Given the description of an element on the screen output the (x, y) to click on. 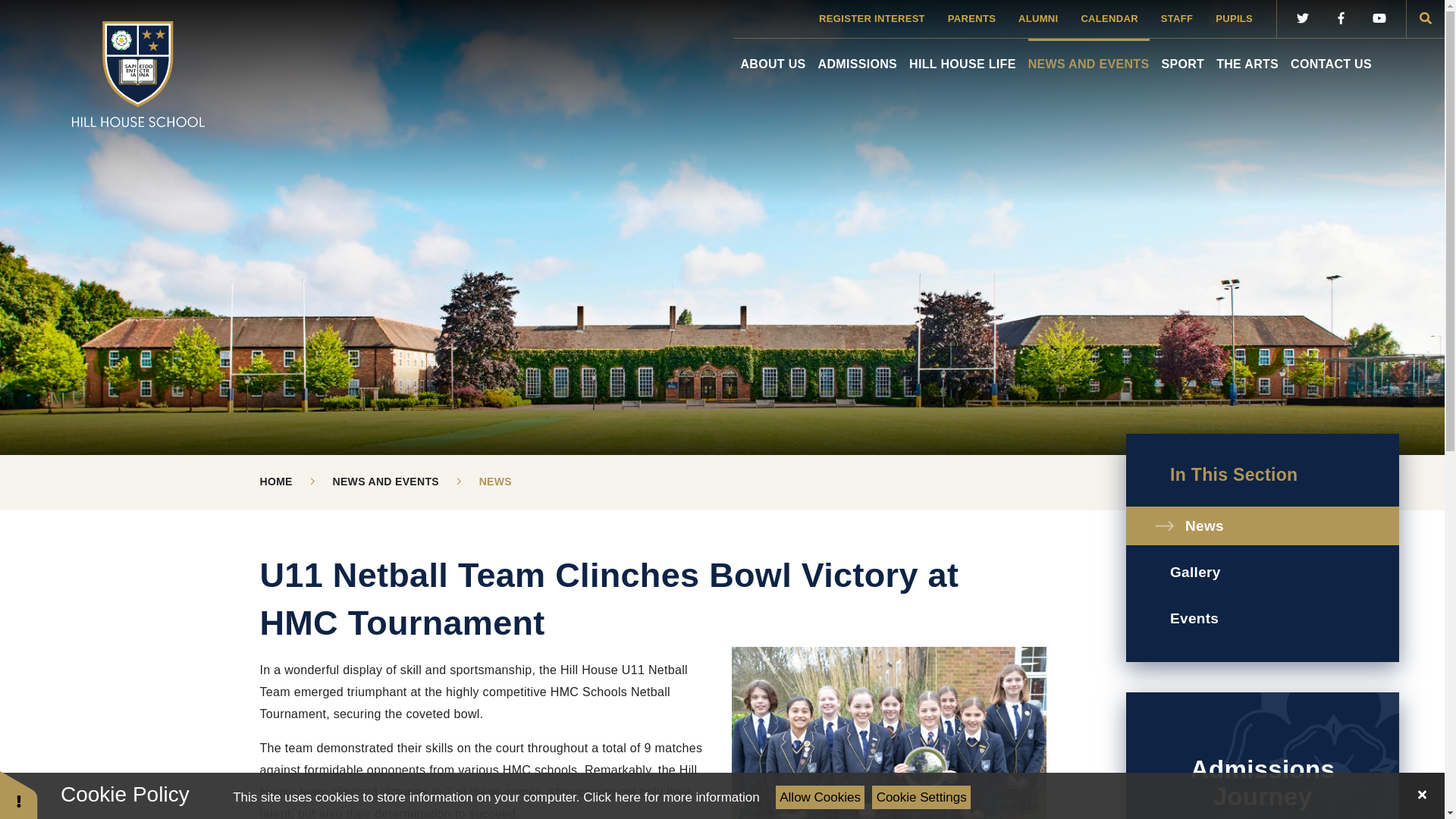
ABOUT US (772, 57)
Allow Cookies (820, 797)
Cookie Settings (921, 797)
See cookie policy (670, 797)
ADMISSIONS (858, 57)
